Given the description of an element on the screen output the (x, y) to click on. 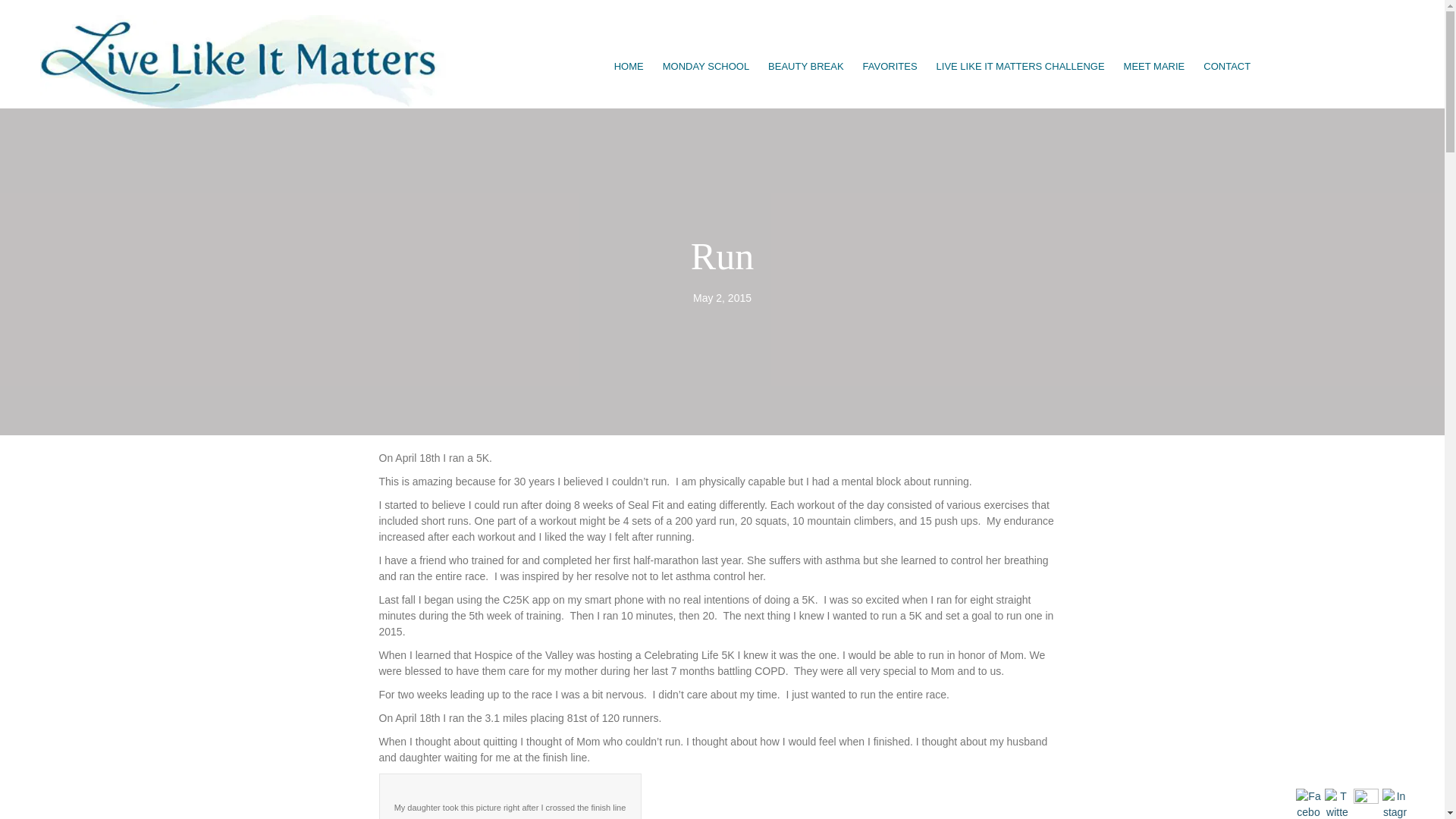
MONDAY SCHOOL (705, 66)
FAVORITES (889, 66)
CONTACT (1226, 66)
HOME (628, 66)
LIVE LIKE IT MATTERS CHALLENGE (1020, 66)
MEET MARIE (1154, 66)
BEAUTY BREAK (804, 66)
marie-logo (244, 61)
